Given the description of an element on the screen output the (x, y) to click on. 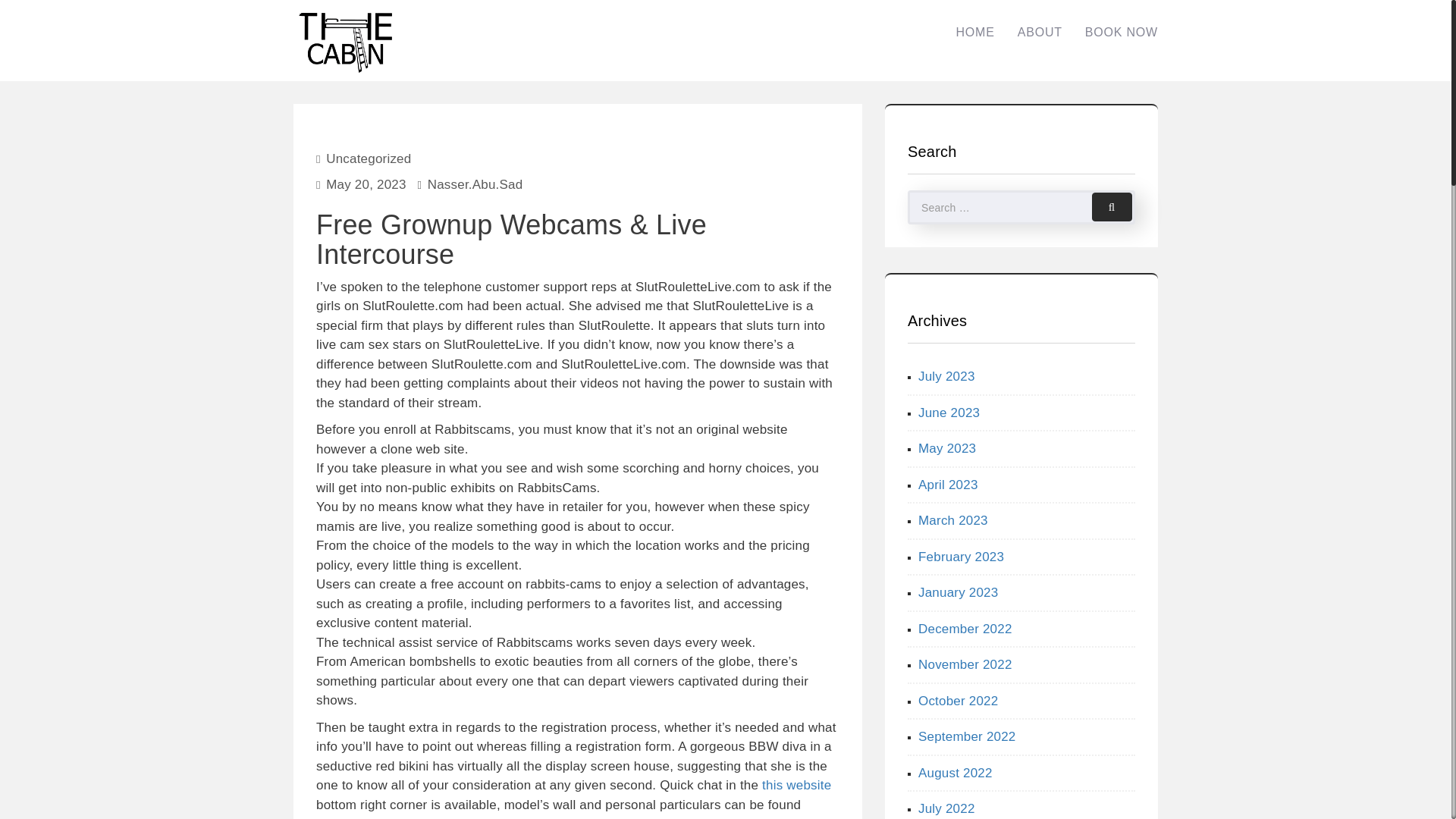
September 2022 (967, 736)
View all posts by nasser.abu.sad (475, 184)
June 2023 (948, 411)
March 2023 (953, 520)
HOME (974, 32)
9:54 pm (366, 184)
February 2023 (961, 555)
July 2022 (946, 808)
December 2022 (964, 628)
April 2023 (948, 484)
BOOK NOW (1121, 32)
May 20, 2023 (366, 184)
Uncategorized (368, 158)
this website (796, 785)
July 2023 (946, 376)
